Given the description of an element on the screen output the (x, y) to click on. 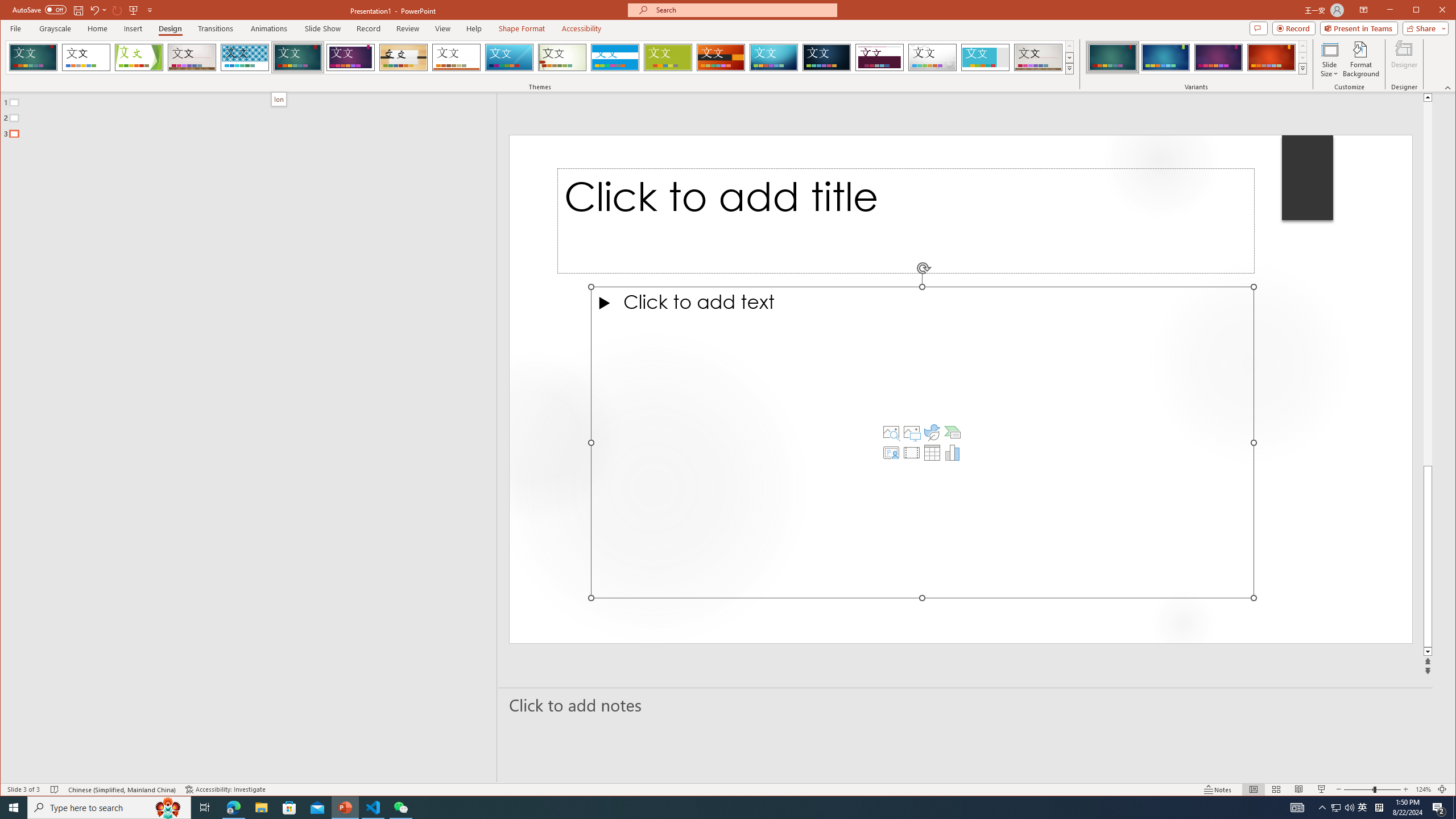
AutomationID: ThemeVariantsGallery (1196, 57)
Insert a SmartArt Graphic (952, 432)
